Given the description of an element on the screen output the (x, y) to click on. 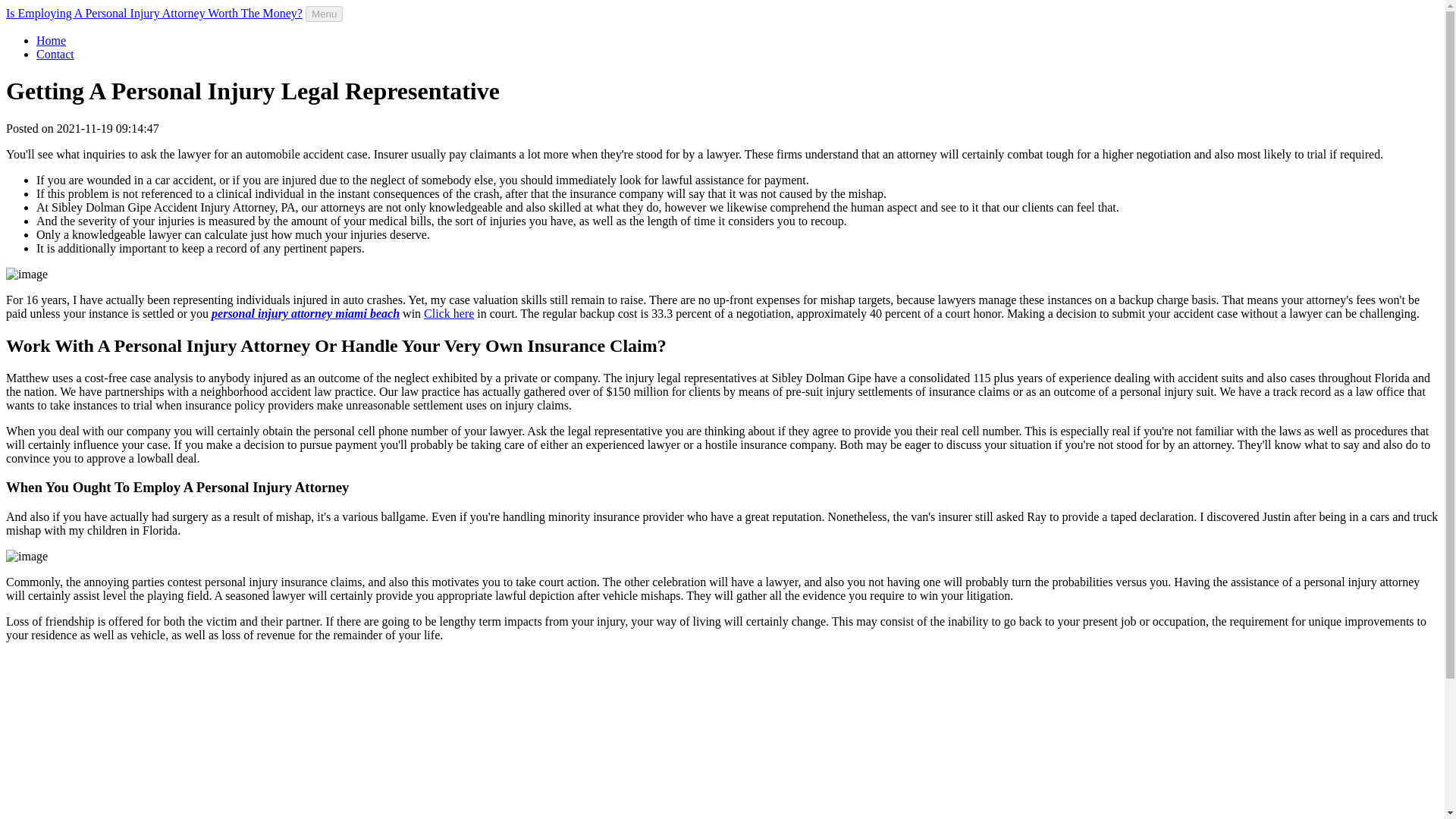
Contact (55, 53)
personal injury attorney miami beach (304, 313)
Menu (323, 13)
Home (50, 40)
Is Employing A Personal Injury Attorney Worth The Money? (153, 12)
Click here (448, 313)
